Given the description of an element on the screen output the (x, y) to click on. 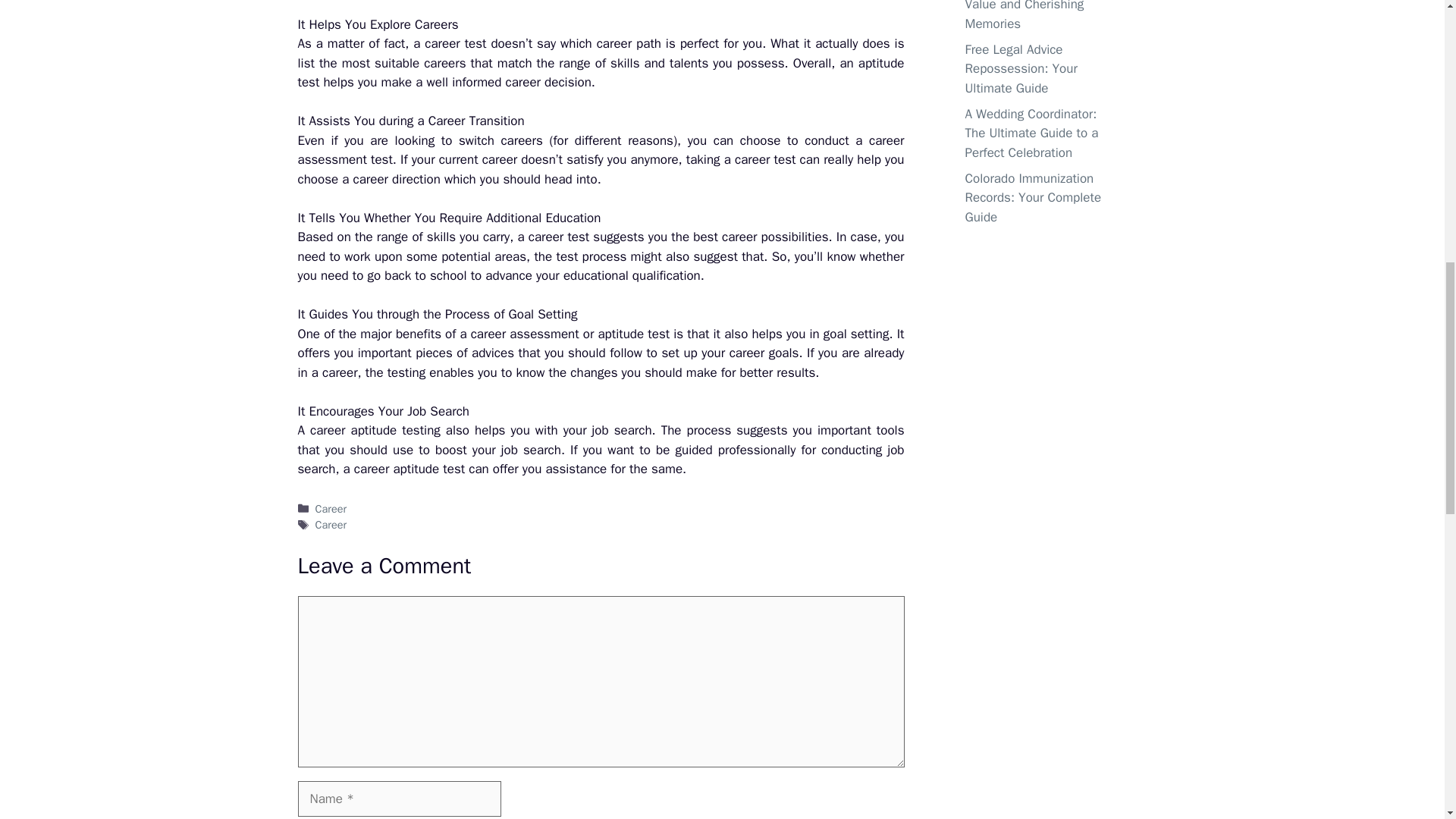
Scroll back to top (1406, 720)
Free Legal Advice Repossession: Your Ultimate Guide (1020, 68)
Career (331, 524)
Colorado Immunization Records: Your Complete Guide (1031, 197)
Career (331, 508)
